Given the description of an element on the screen output the (x, y) to click on. 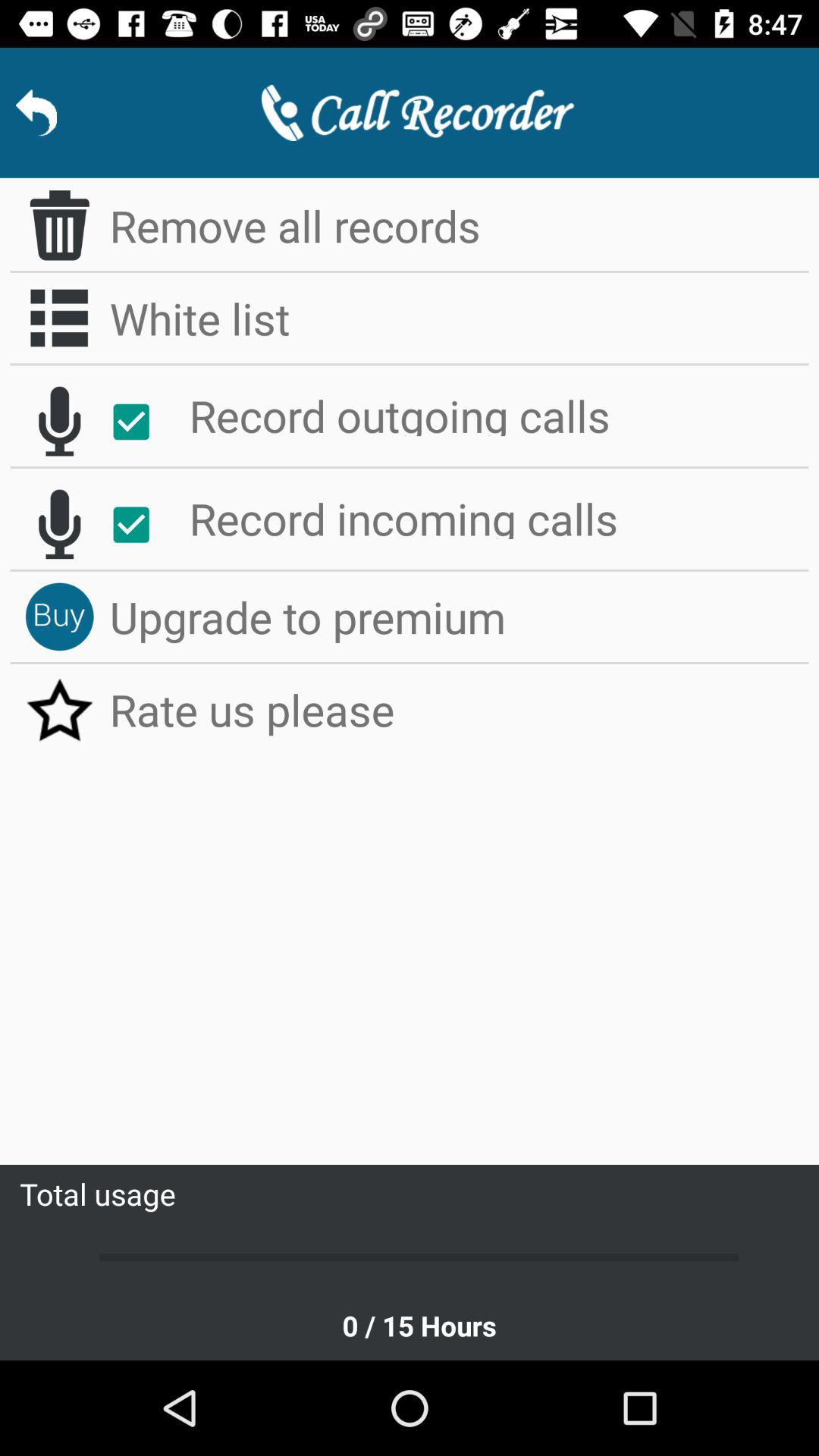
enlist button (59, 318)
